Given the description of an element on the screen output the (x, y) to click on. 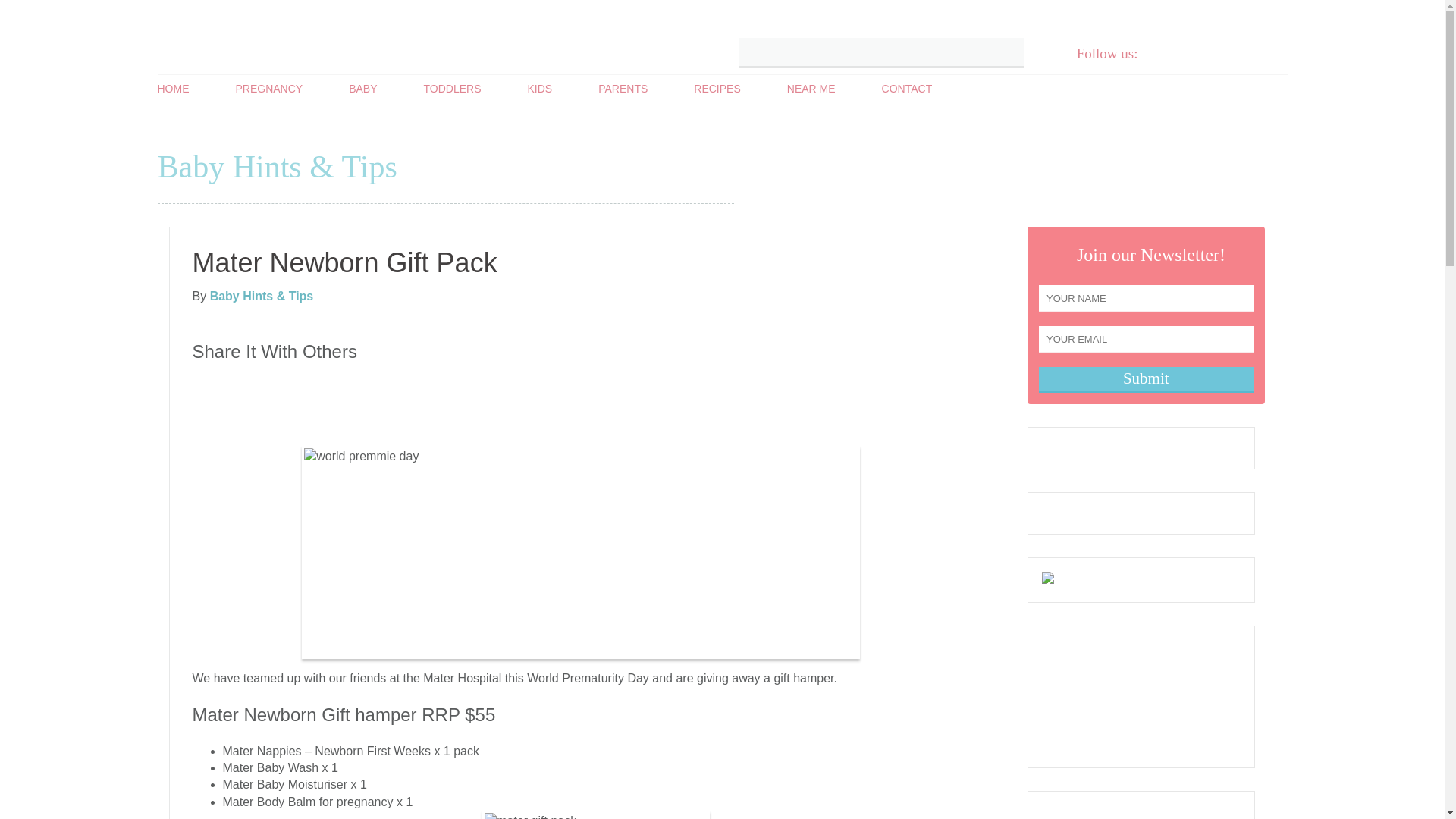
Share on LinkedIn (415, 383)
Share on Tumblr (464, 383)
Share on Pinterest (365, 383)
Search (1006, 51)
TODDLERS (452, 89)
Search (1006, 51)
Share on Facebook (265, 383)
BABY (363, 89)
PREGNANCY (268, 89)
Submit (1146, 379)
HOME (173, 89)
Tweet It (215, 383)
